Given the description of an element on the screen output the (x, y) to click on. 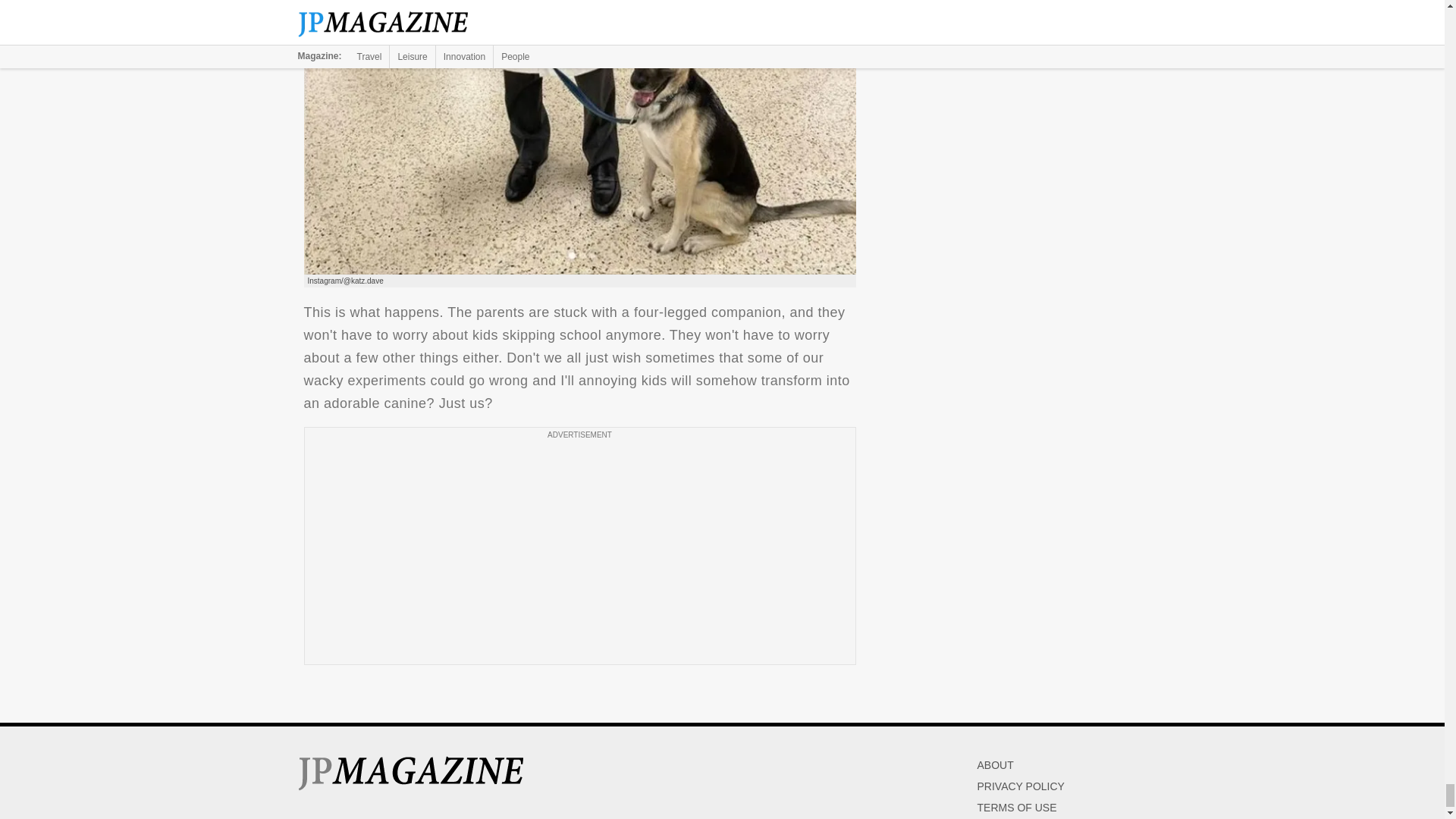
PRIVACY POLICY (1020, 786)
TERMS OF USE (1016, 807)
ABOUT (994, 765)
